Given the description of an element on the screen output the (x, y) to click on. 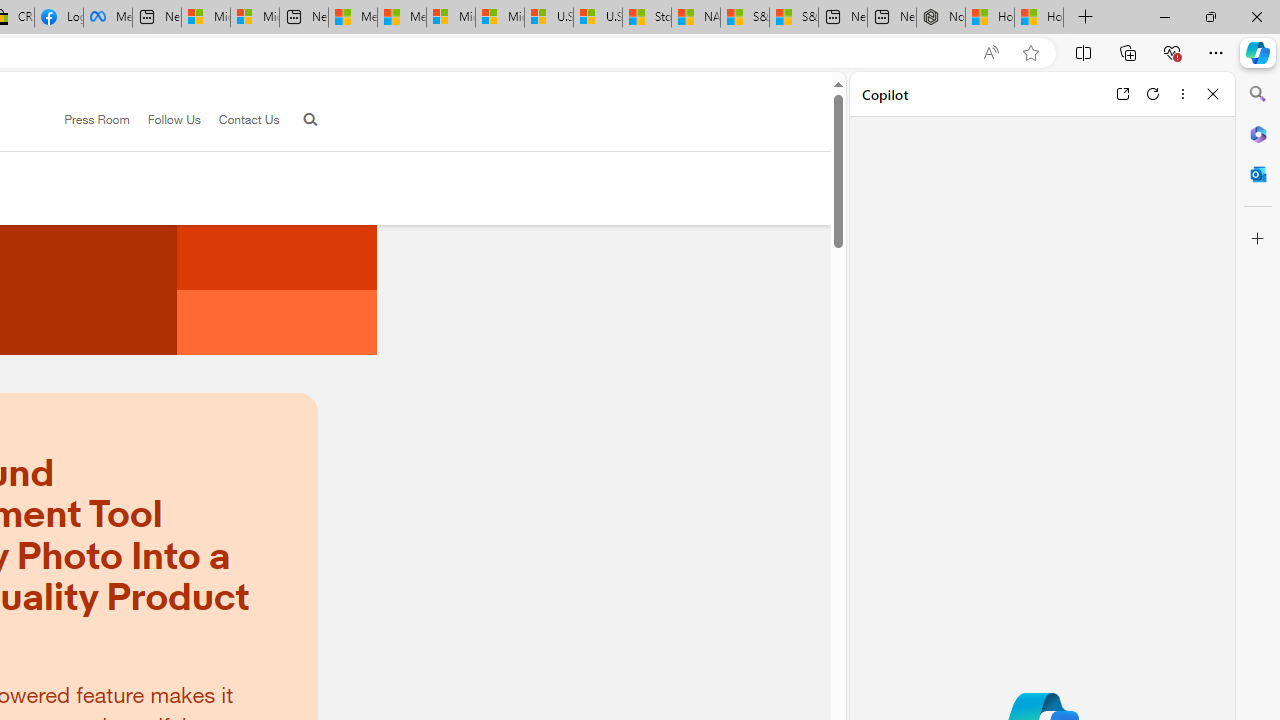
Follow Us (164, 120)
Microsoft account | Privacy (254, 17)
Log into Facebook (58, 17)
Microsoft 365 (1258, 133)
Press Room (88, 120)
Outlook (1258, 174)
